Given the description of an element on the screen output the (x, y) to click on. 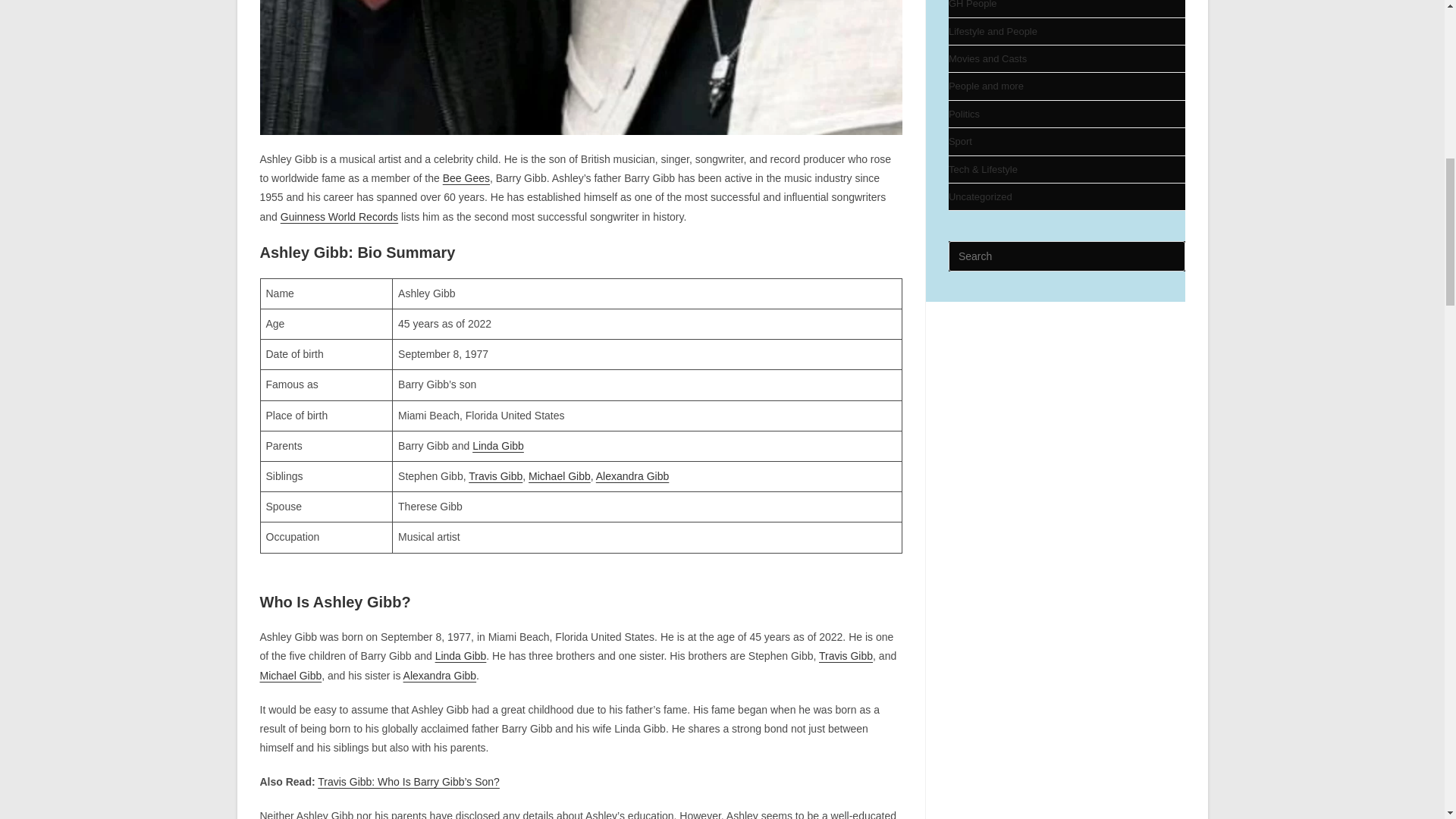
Linda Gibb (497, 445)
Bee Gees (465, 177)
Guinness World Records (339, 216)
Alexandra Gibb (632, 476)
Michael Gibb (559, 476)
Linda Gibb (460, 655)
Travis Gibb (495, 476)
